Given the description of an element on the screen output the (x, y) to click on. 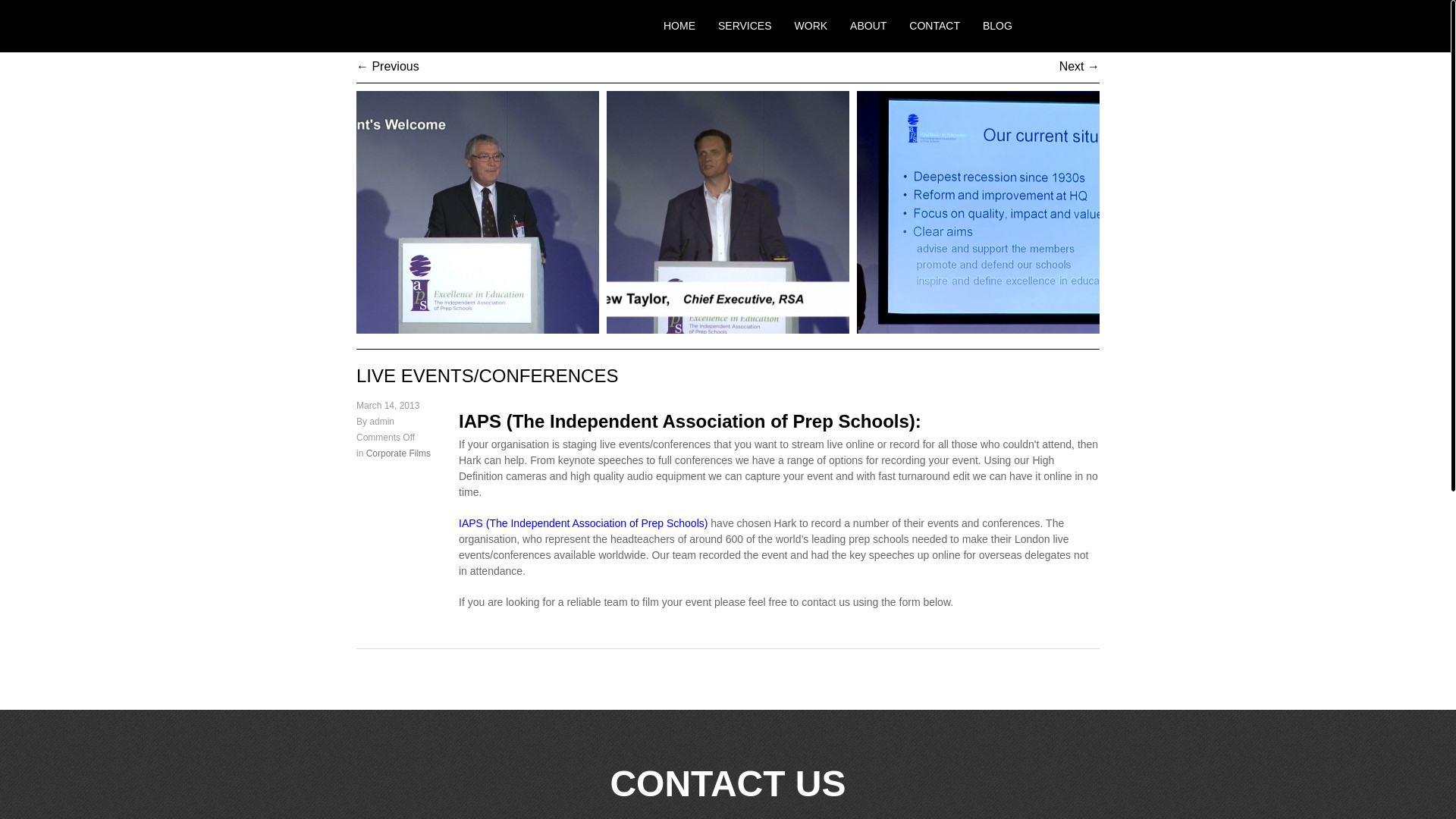
home page (679, 25)
Corporate Films (398, 452)
SERVICES (744, 25)
IAPS Conference (477, 211)
WORK (811, 25)
ABOUT (868, 25)
CONTACT (933, 25)
IAPS Conference (727, 211)
BLOG (996, 25)
HOME (679, 25)
IAPS Conference (978, 211)
iaps (582, 522)
